Given the description of an element on the screen output the (x, y) to click on. 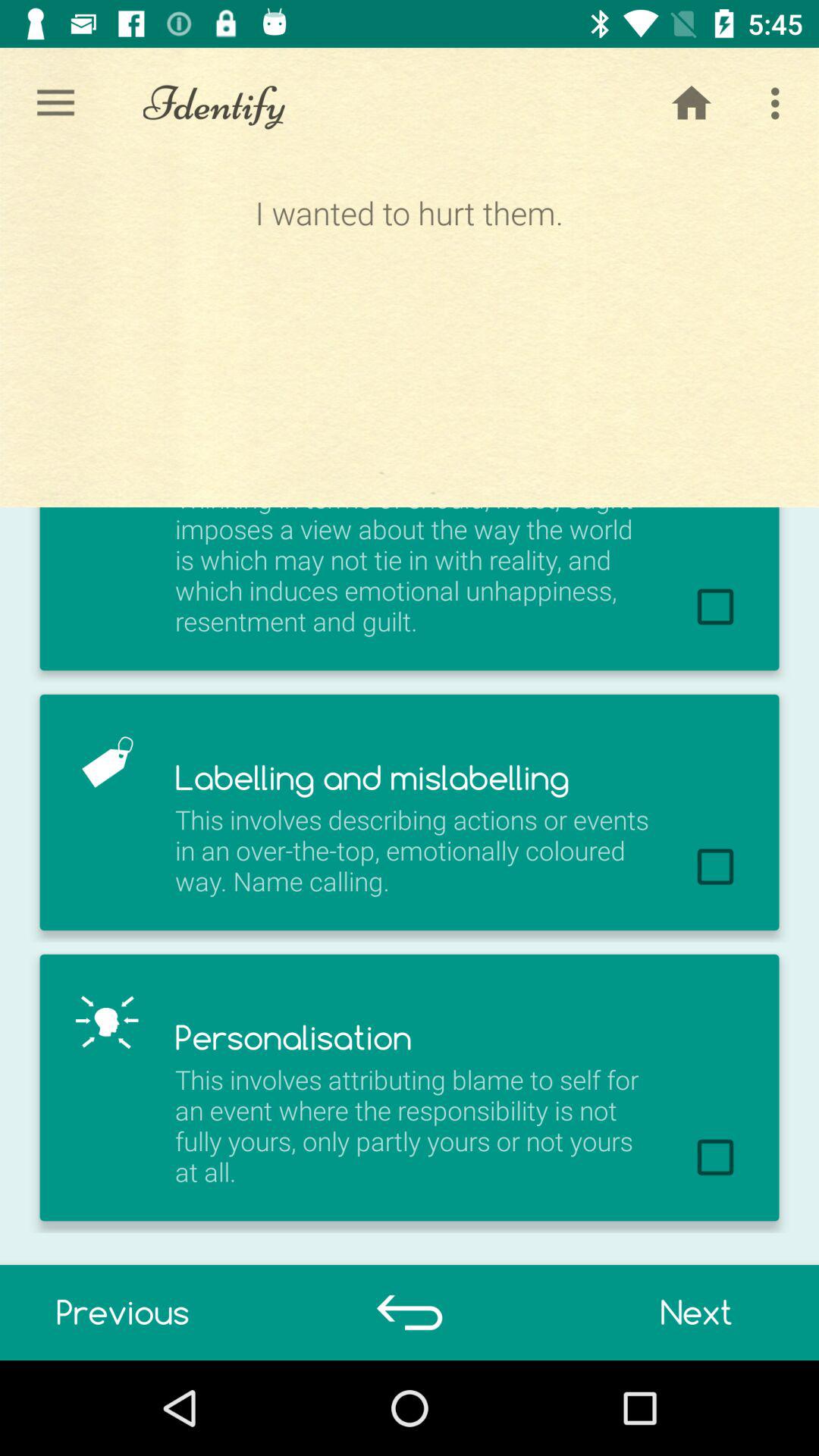
select item below this involves attributing item (122, 1312)
